Given the description of an element on the screen output the (x, y) to click on. 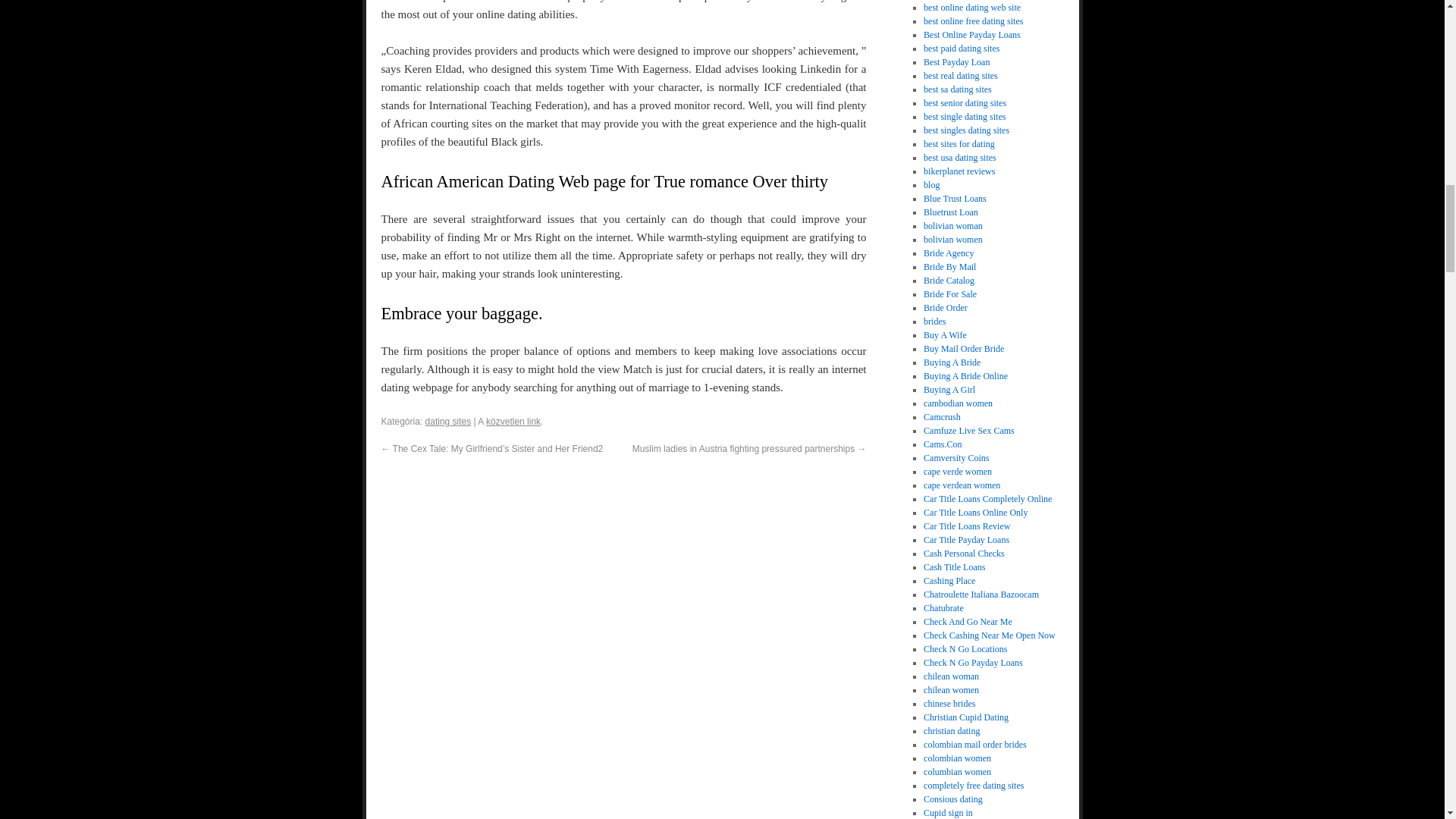
dating sites (448, 421)
